Given the description of an element on the screen output the (x, y) to click on. 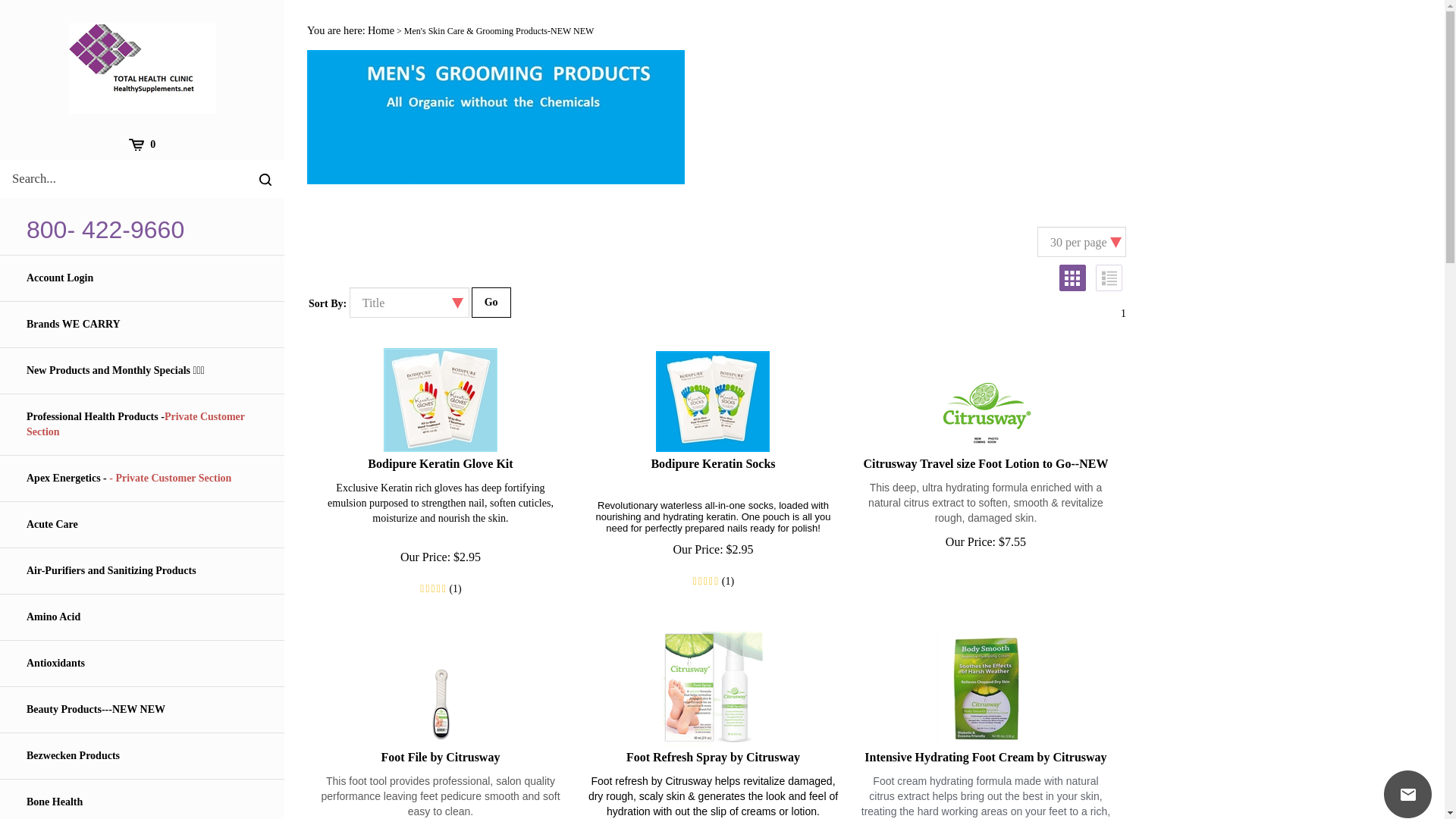
Sort By: (408, 302)
www.healthysupplements.net (142, 67)
Men's Grooming Products (499, 30)
